Given the description of an element on the screen output the (x, y) to click on. 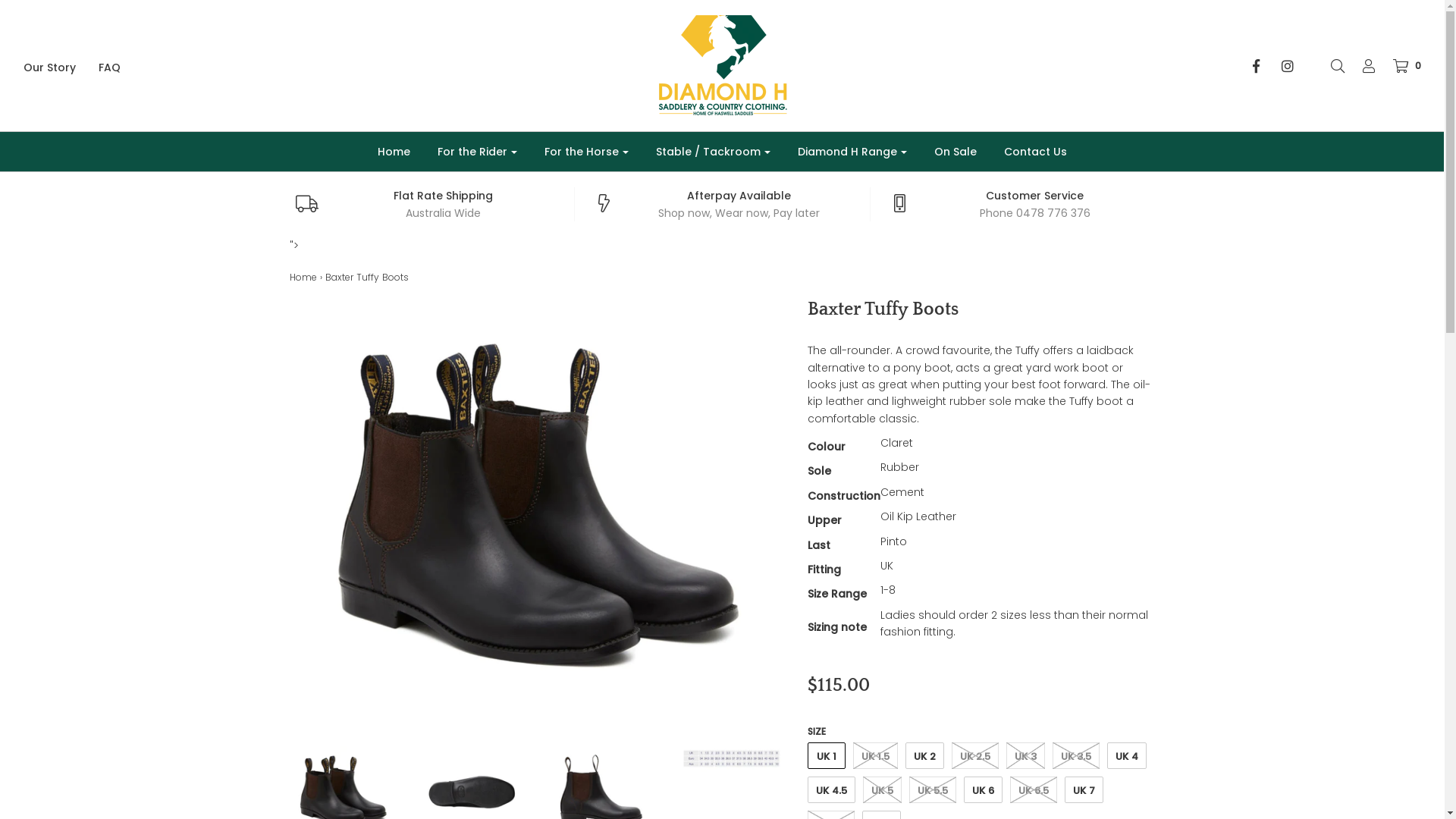
Baxter Tuffy Boots Element type: hover (730, 758)
Our Story Element type: text (60, 67)
FAQ Element type: text (120, 67)
On Sale Element type: text (954, 151)
Stable / Tackroom Element type: text (712, 151)
0 Element type: text (1399, 65)
Home Element type: text (392, 151)
Search Element type: hover (1329, 65)
For the Rider Element type: text (477, 151)
Home Element type: text (302, 276)
For the Horse Element type: text (585, 151)
Diamond H Range Element type: text (851, 151)
Log in Element type: hover (1360, 65)
Contact Us Element type: text (1034, 151)
